Given the description of an element on the screen output the (x, y) to click on. 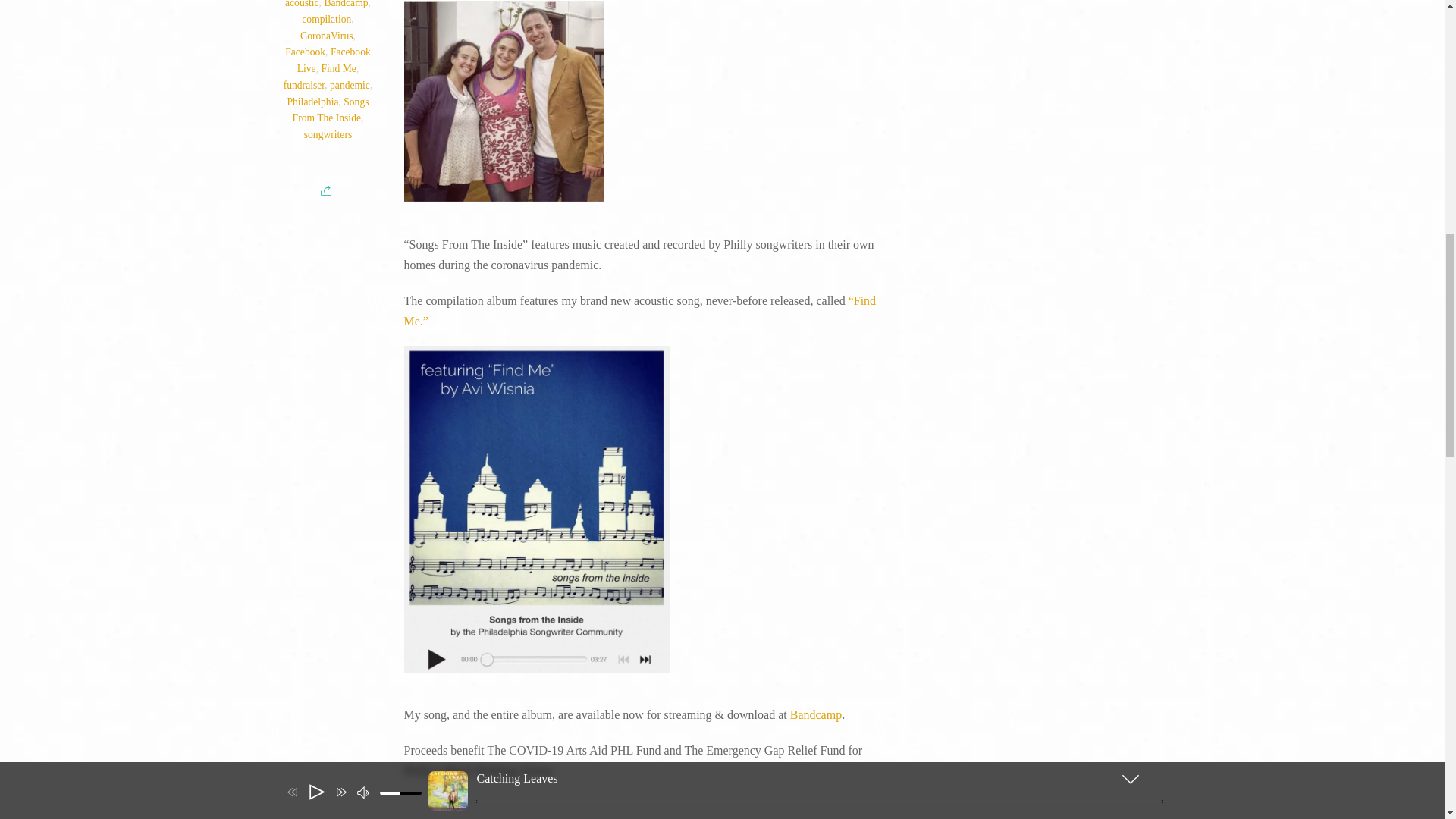
Bandcamp (815, 714)
compilation (325, 19)
Bandcamp (345, 4)
Facebook Live (334, 59)
songwriters (328, 134)
Philadelphia (311, 101)
CoronaVirus (325, 35)
Facebook (304, 51)
Find Me (337, 68)
Songs From The Inside (330, 110)
